Given the description of an element on the screen output the (x, y) to click on. 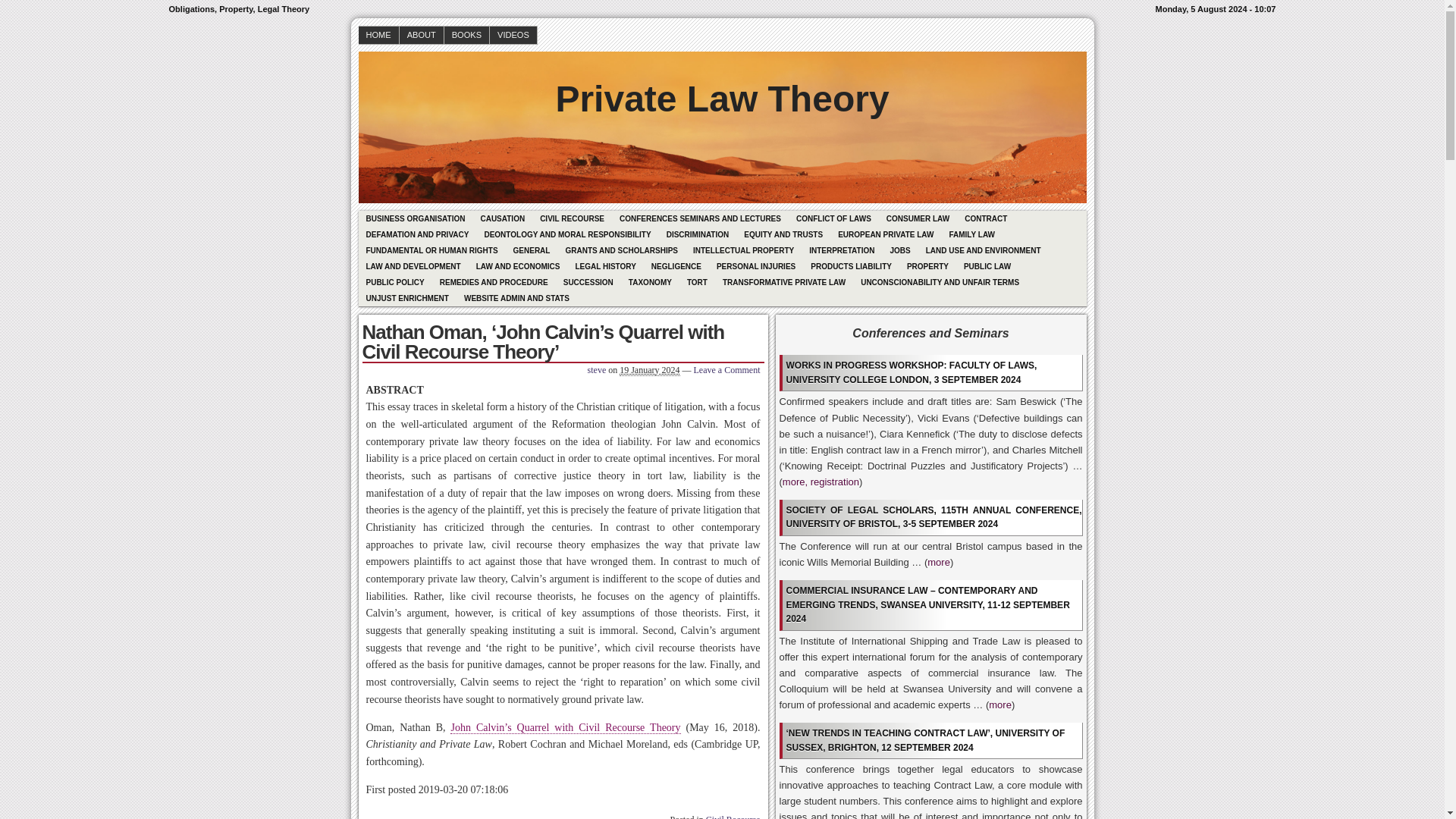
19 January 2024 - 14:17 (649, 369)
GENERAL (531, 250)
DEFAMATION AND PRIVACY (417, 234)
ABOUT (421, 34)
REMEDIES AND PROCEDURE (494, 282)
CONSUMER LAW (917, 218)
VIDEOS (513, 34)
INTELLECTUAL PROPERTY (743, 250)
DEONTOLOGY AND MORAL RESPONSIBILITY (567, 234)
UNCONSCIONABILITY AND UNFAIR TERMS (939, 282)
JOBS (899, 250)
PRODUCTS LIABILITY (851, 266)
LAW AND ECONOMICS (517, 266)
FAMILY LAW (971, 234)
SUCCESSION (588, 282)
